Given the description of an element on the screen output the (x, y) to click on. 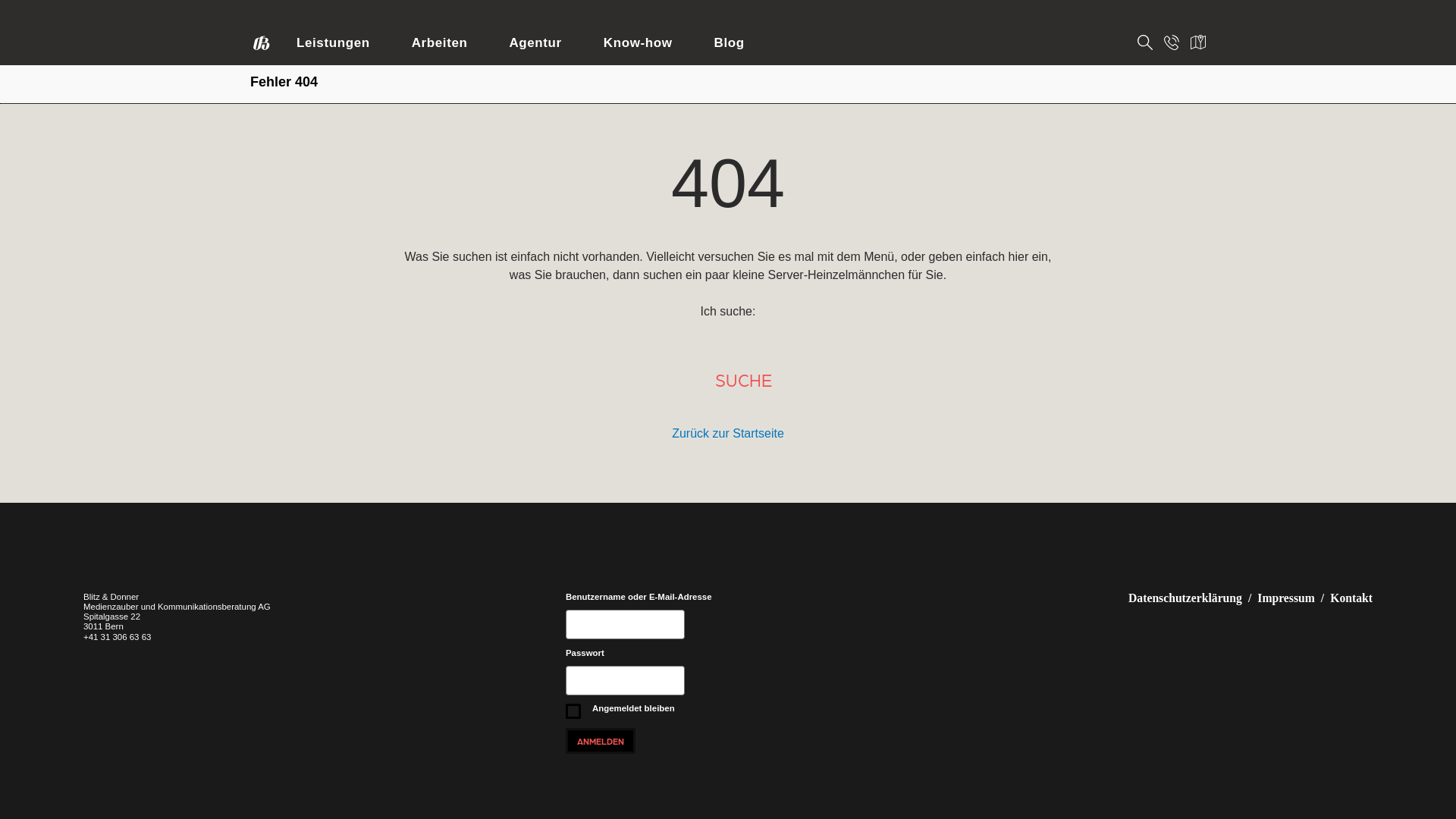
Impressum Element type: text (1285, 598)
Know-how Element type: text (638, 45)
Anmelden Element type: text (600, 740)
Agentur Element type: text (534, 45)
Blog Element type: text (729, 45)
Suche Element type: text (742, 379)
Kontakt Element type: text (1171, 47)
Suchen Element type: text (1144, 47)
Kontakt Element type: text (1351, 598)
Karte Element type: text (1197, 47)
Leistungen Element type: text (333, 45)
Arbeiten Element type: text (439, 45)
+41 31 306 63 63 Element type: text (116, 636)
